Given the description of an element on the screen output the (x, y) to click on. 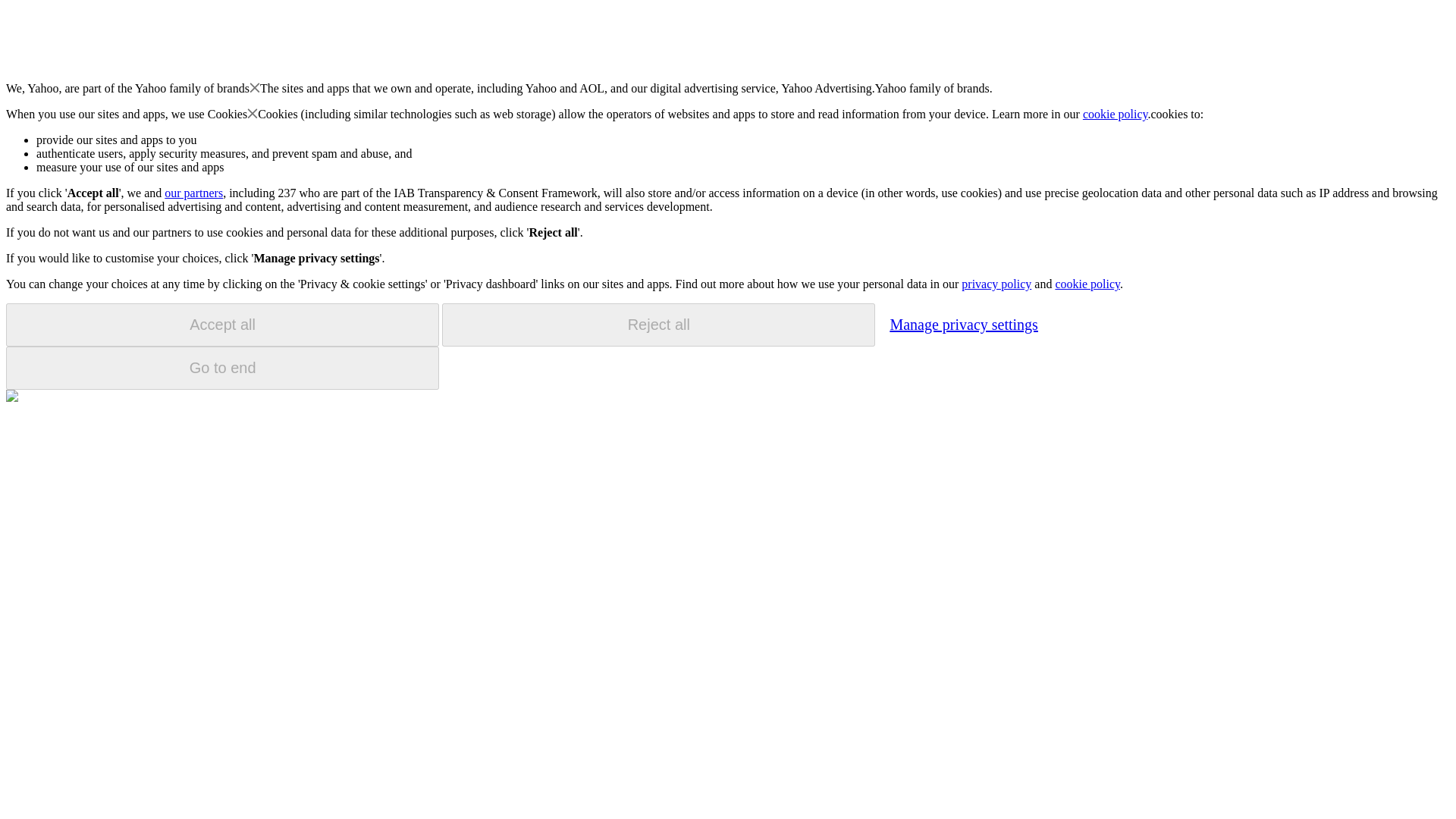
our partners (193, 192)
privacy policy (995, 283)
cookie policy (1086, 283)
Accept all (222, 324)
Reject all (658, 324)
cookie policy (1115, 113)
Go to end (222, 367)
Manage privacy settings (963, 323)
